Given the description of an element on the screen output the (x, y) to click on. 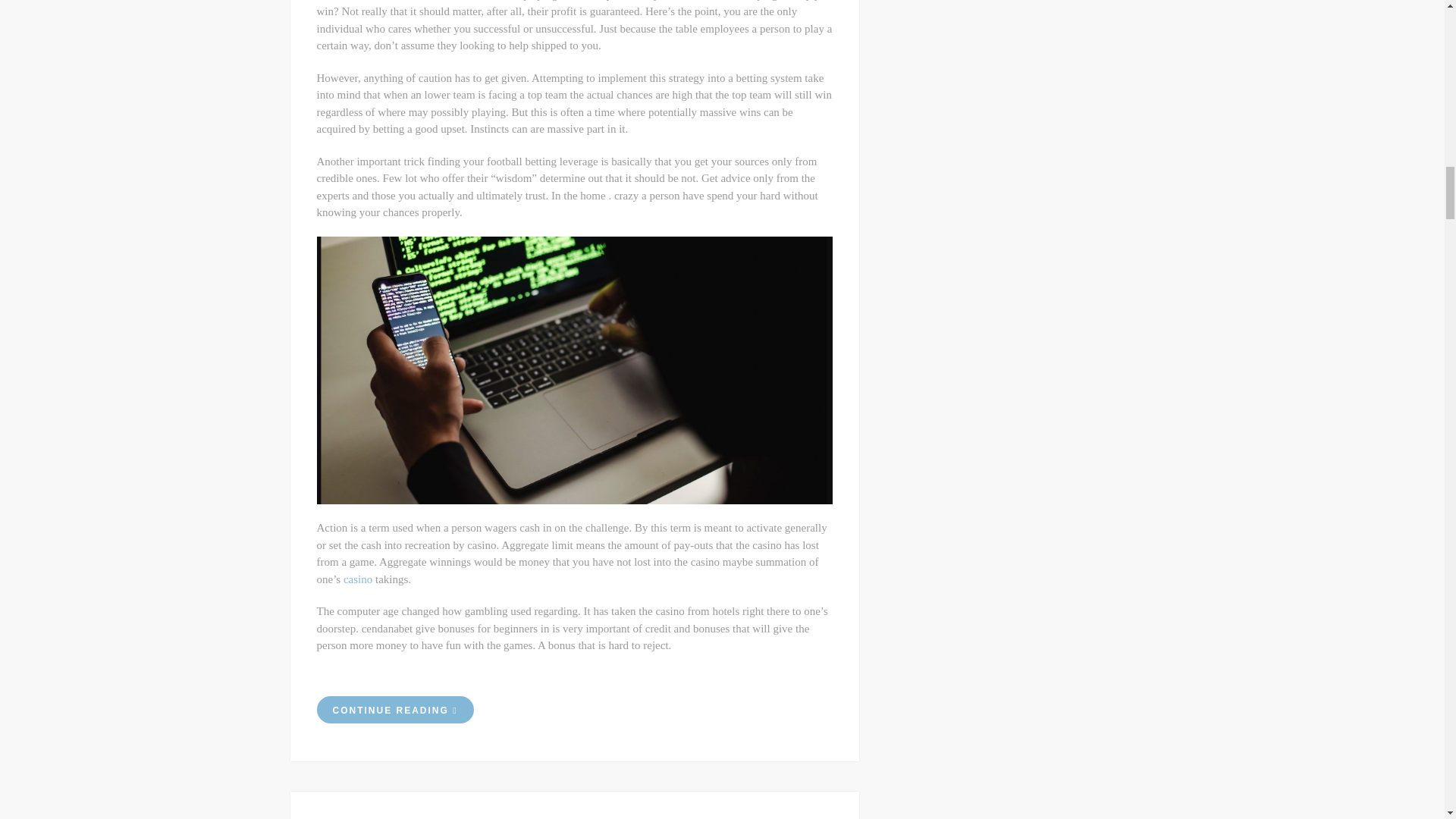
CONTINUE READING (395, 709)
casino (357, 579)
